Given the description of an element on the screen output the (x, y) to click on. 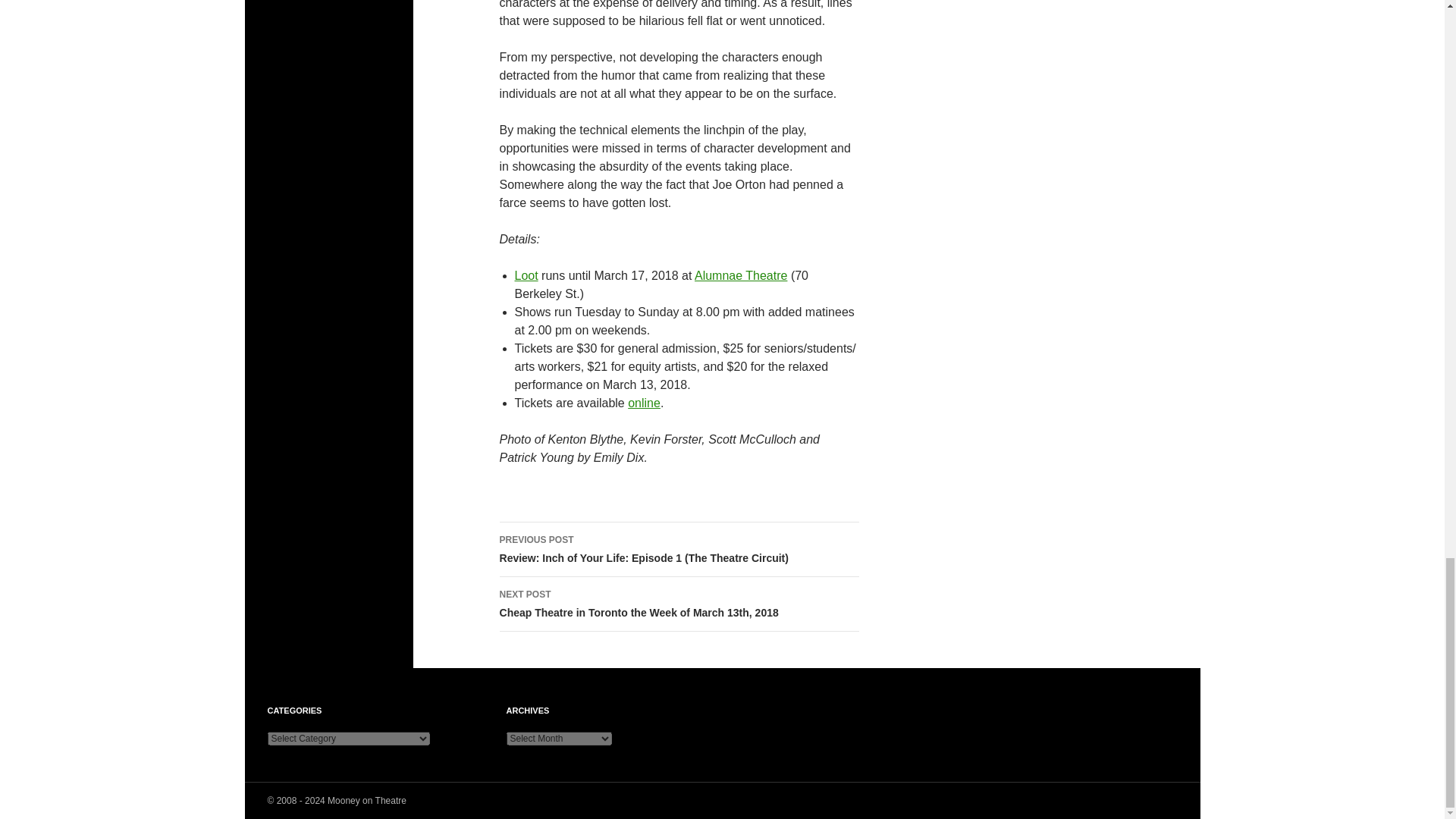
online (644, 402)
Loot (525, 275)
Alumnae Theatre (740, 275)
